Given the description of an element on the screen output the (x, y) to click on. 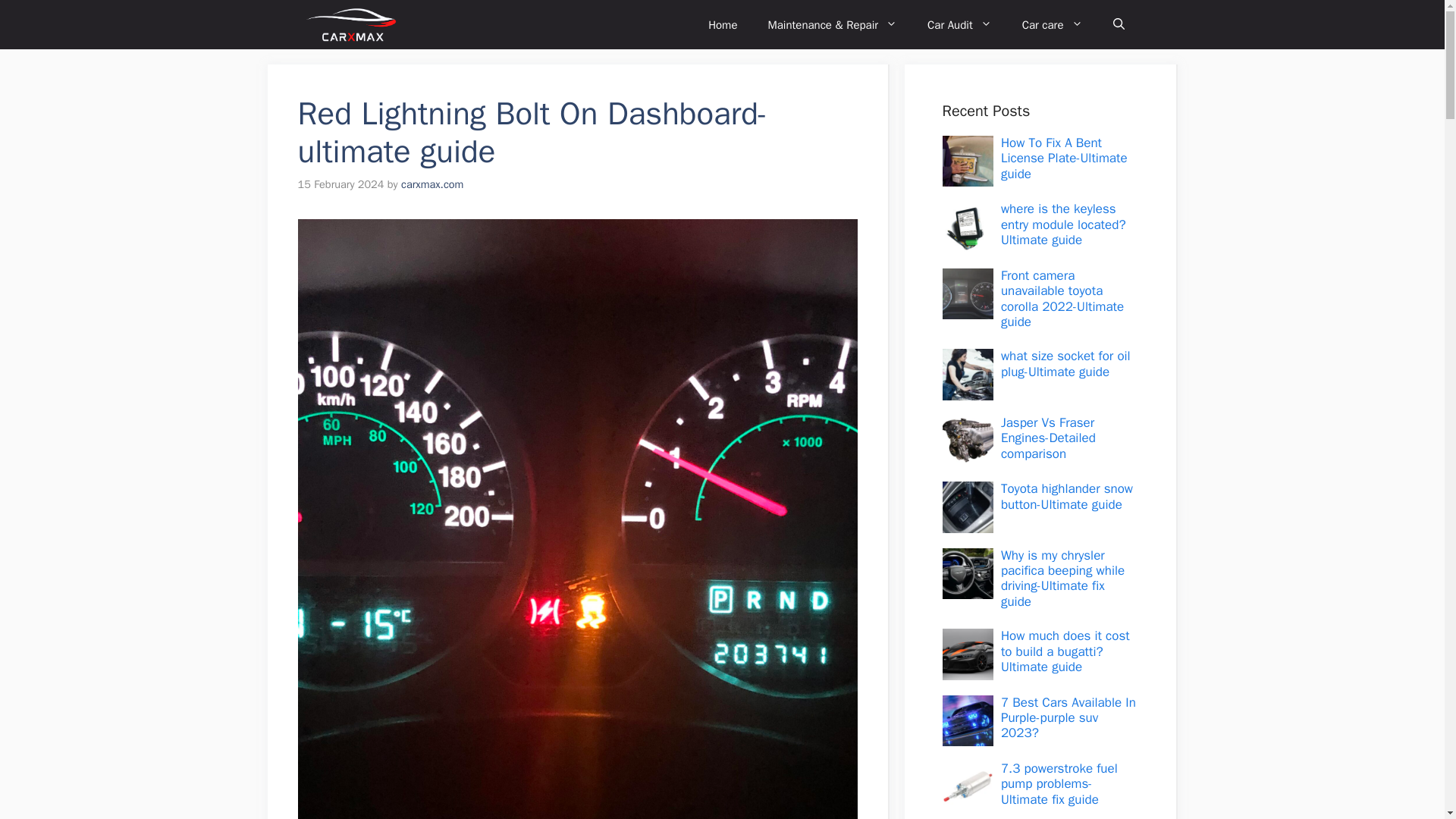
Car Audit (959, 23)
View all posts by carxmax.com (432, 183)
Home (722, 23)
Car care (1052, 23)
carxmax.com (432, 183)
